Given the description of an element on the screen output the (x, y) to click on. 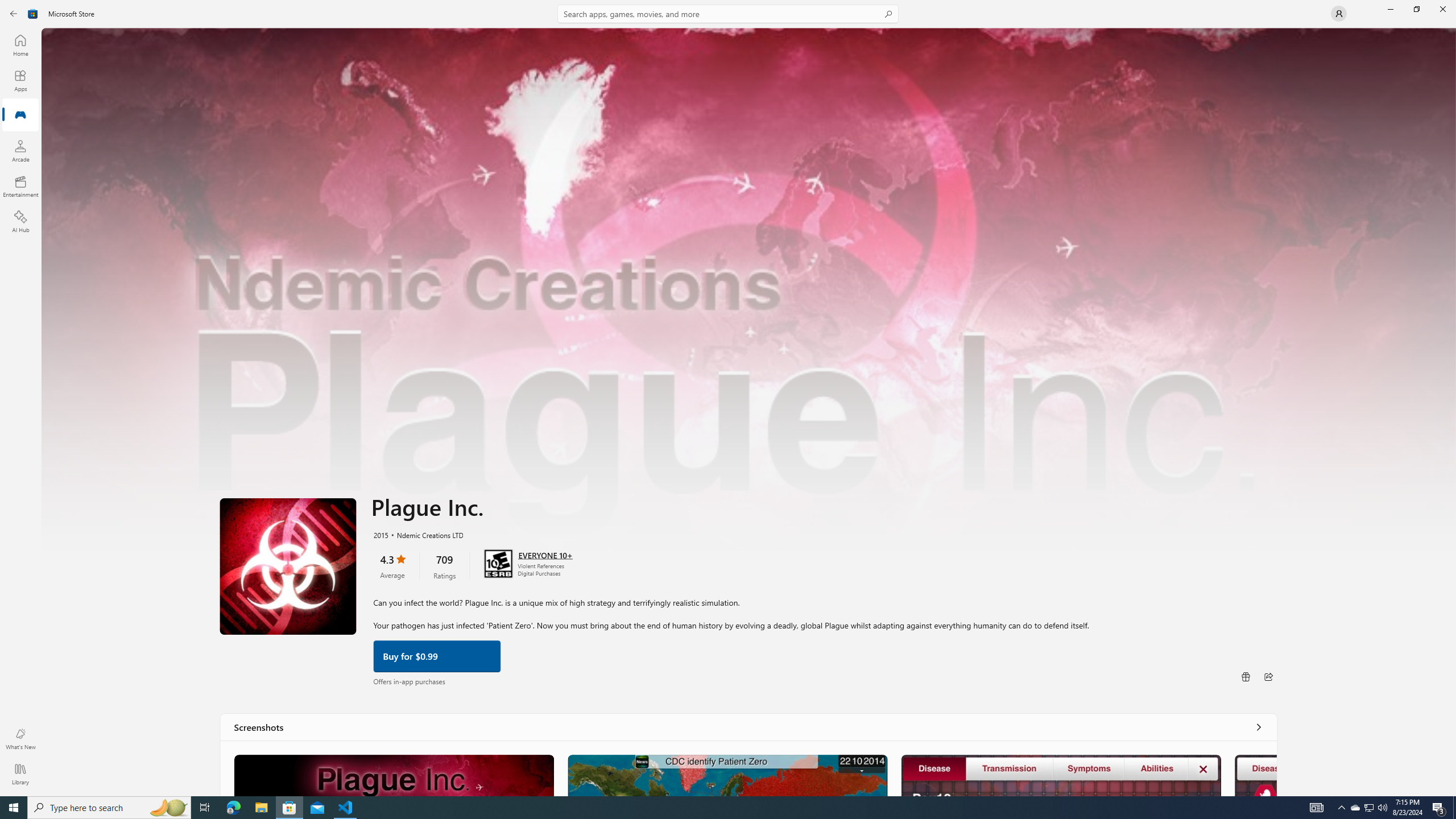
Screenshot 1 (393, 775)
Back (13, 13)
Arcade (20, 150)
User profile (1338, 13)
What's New (20, 738)
Home (20, 45)
Restore Microsoft Store (1416, 9)
Close Microsoft Store (1442, 9)
Minimize Microsoft Store (1390, 9)
Screenshot 3 (1060, 775)
AutomationID: NavigationControl (728, 398)
Share (1267, 676)
AI Hub (20, 221)
Gaming (20, 115)
Apps (20, 80)
